Given the description of an element on the screen output the (x, y) to click on. 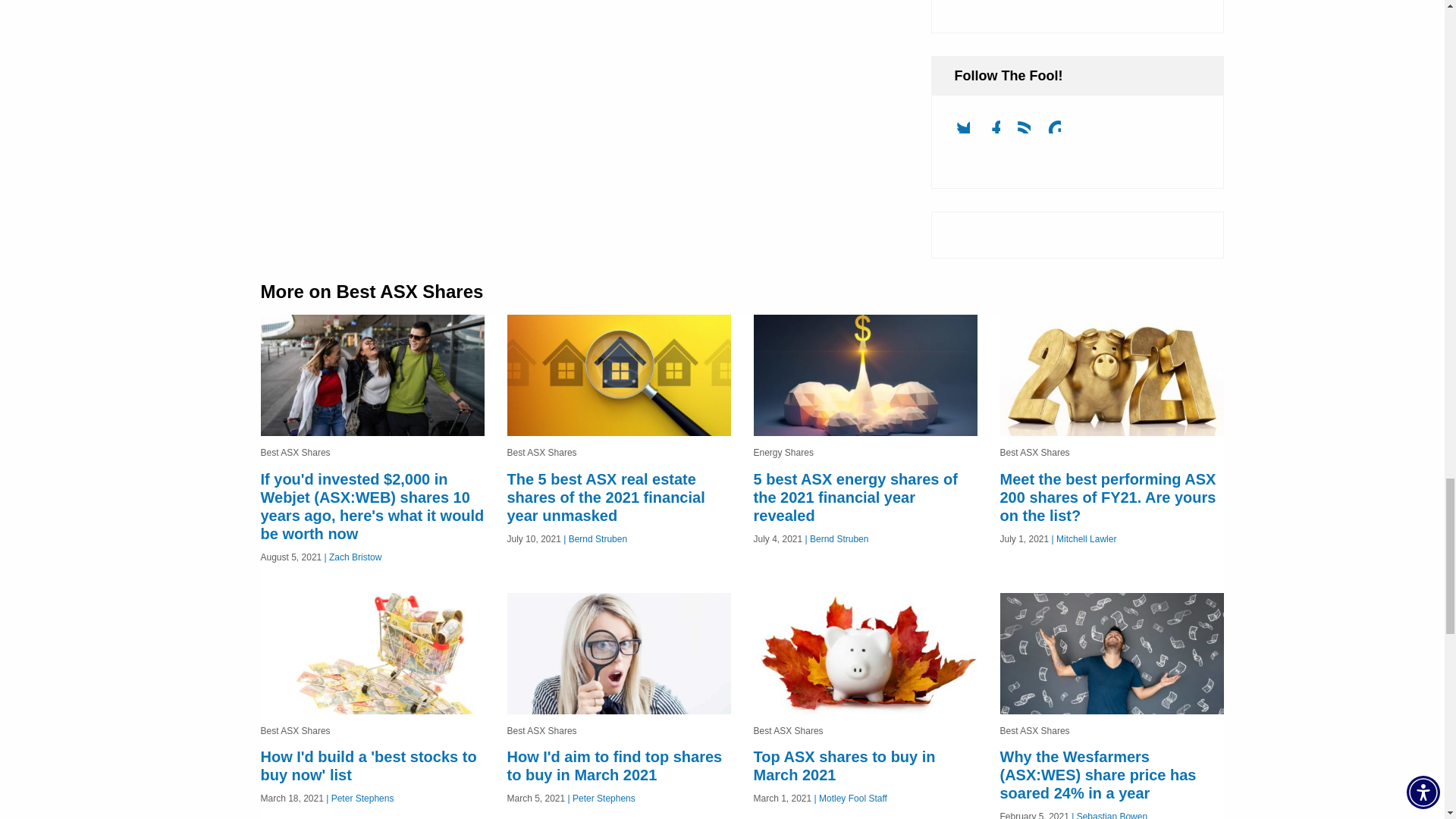
The Motley Fool Google News Feed (1060, 131)
The Motley Fool RSS Feed (1029, 131)
The Motley Fool on Facebook (999, 131)
The Motley Fool on Twitter (968, 131)
